Given the description of an element on the screen output the (x, y) to click on. 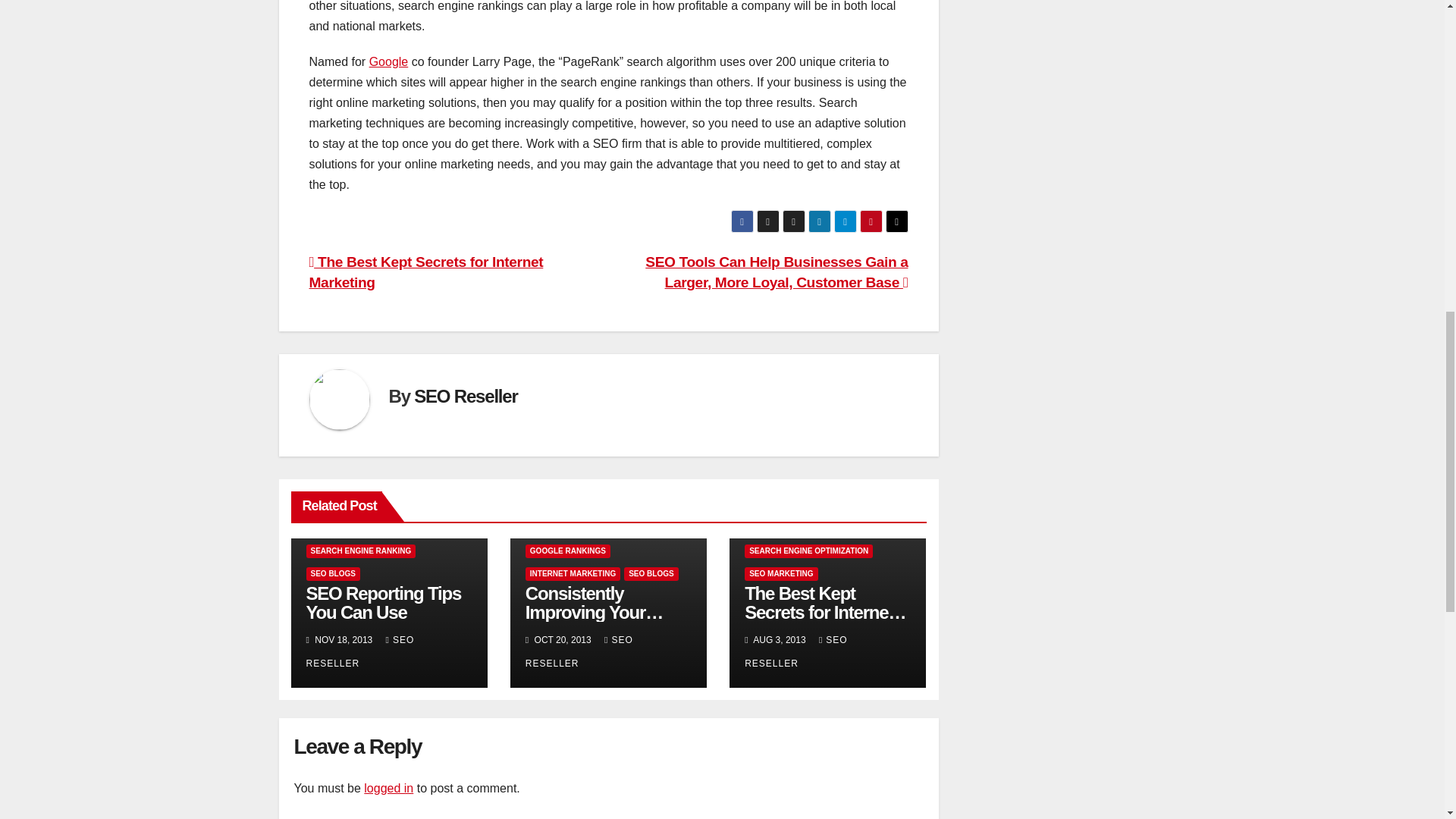
SEO Reporting Tips You Can Use (383, 602)
Consistently Improving Your Search Rankings (594, 612)
SEO RESELLER (359, 651)
SEARCH ENGINE RANKING (360, 550)
SEO Reseller (464, 395)
SEO RESELLER (579, 651)
SEARCH ENGINE OPTIMIZATION (808, 550)
SEO BLOGS (332, 573)
SEO BLOGS (651, 573)
INTERNET MARKETING (572, 573)
GOOGLE RANKINGS (567, 550)
Here you go (389, 61)
The Best Kept Secrets for Internet Marketing (425, 271)
Permalink to: Consistently Improving Your Search Rankings (594, 612)
Permalink to: SEO Reporting Tips You Can Use (383, 602)
